Given the description of an element on the screen output the (x, y) to click on. 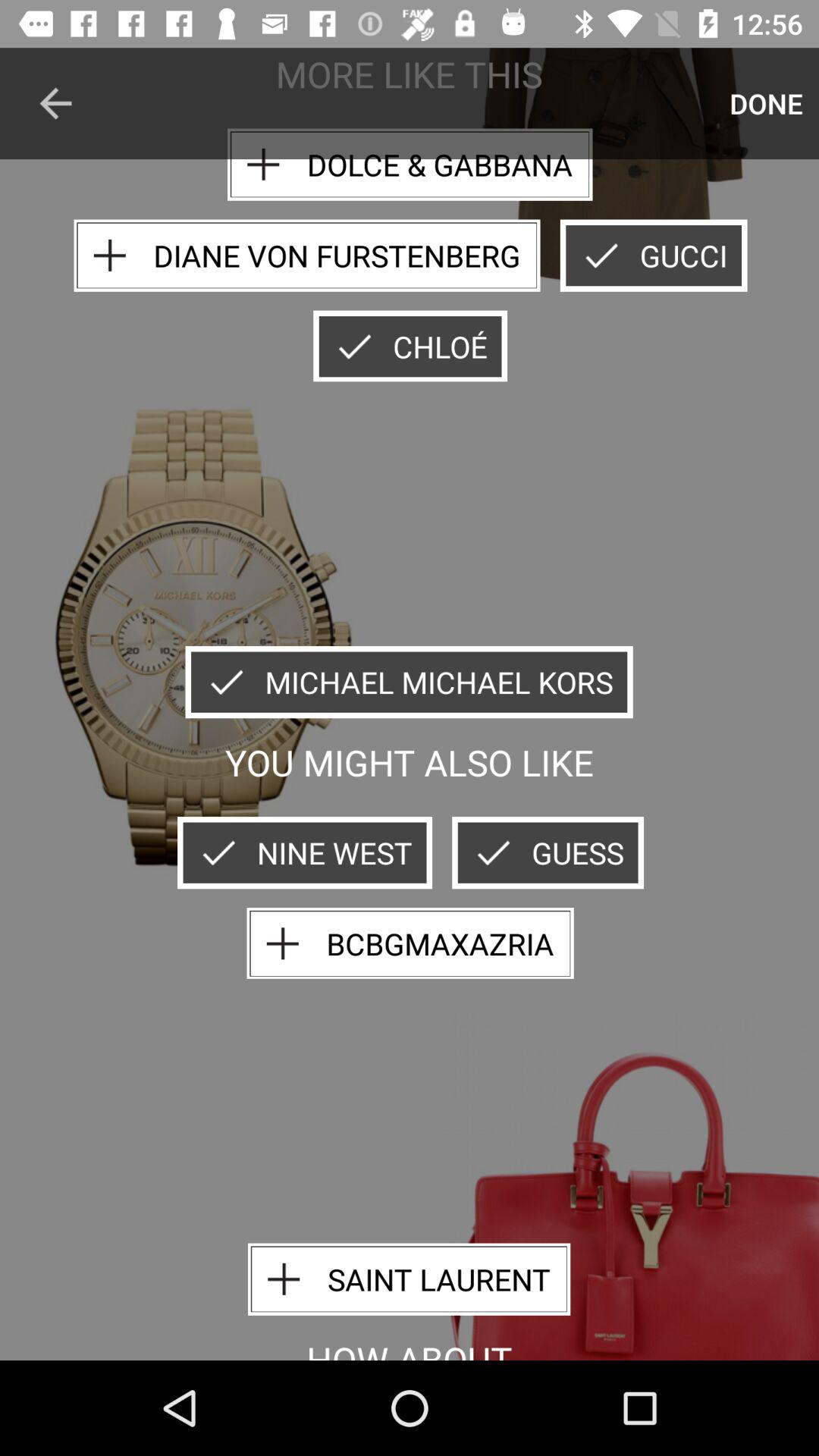
press icon above the you might also (409, 682)
